Given the description of an element on the screen output the (x, y) to click on. 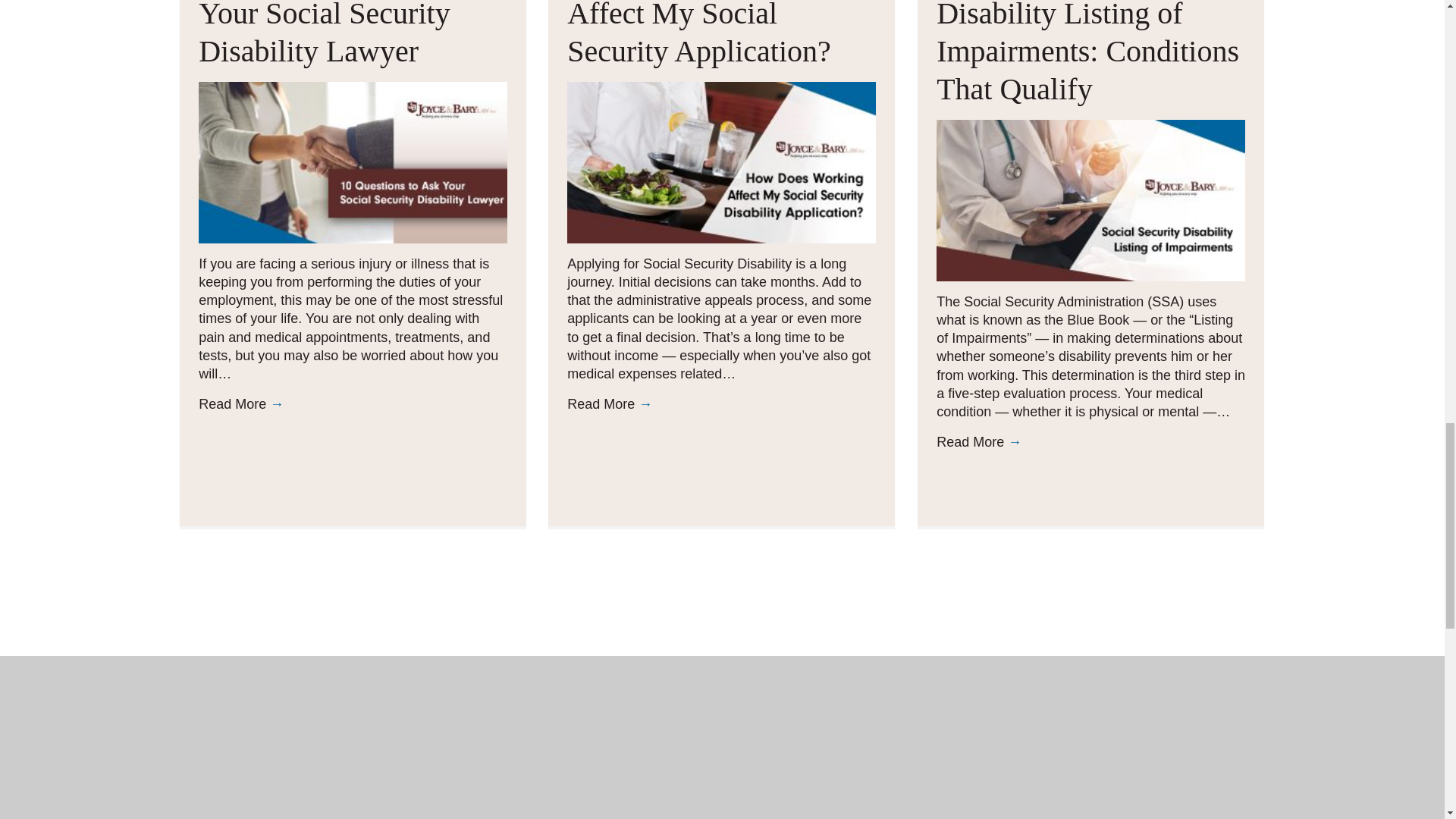
How Does Working Affect My Social Security Application? (721, 160)
10 Questions to Ask Your Social Security Disability Lawyer (323, 33)
How Does Working Affect My Social Security Application? (699, 33)
10 Questions to Ask Your Social Security Disability Lawyer (352, 160)
10 Questions to Ask Your Social Security Disability Lawyer (323, 33)
How Does Working Affect My Social Security Application? (699, 33)
